Given the description of an element on the screen output the (x, y) to click on. 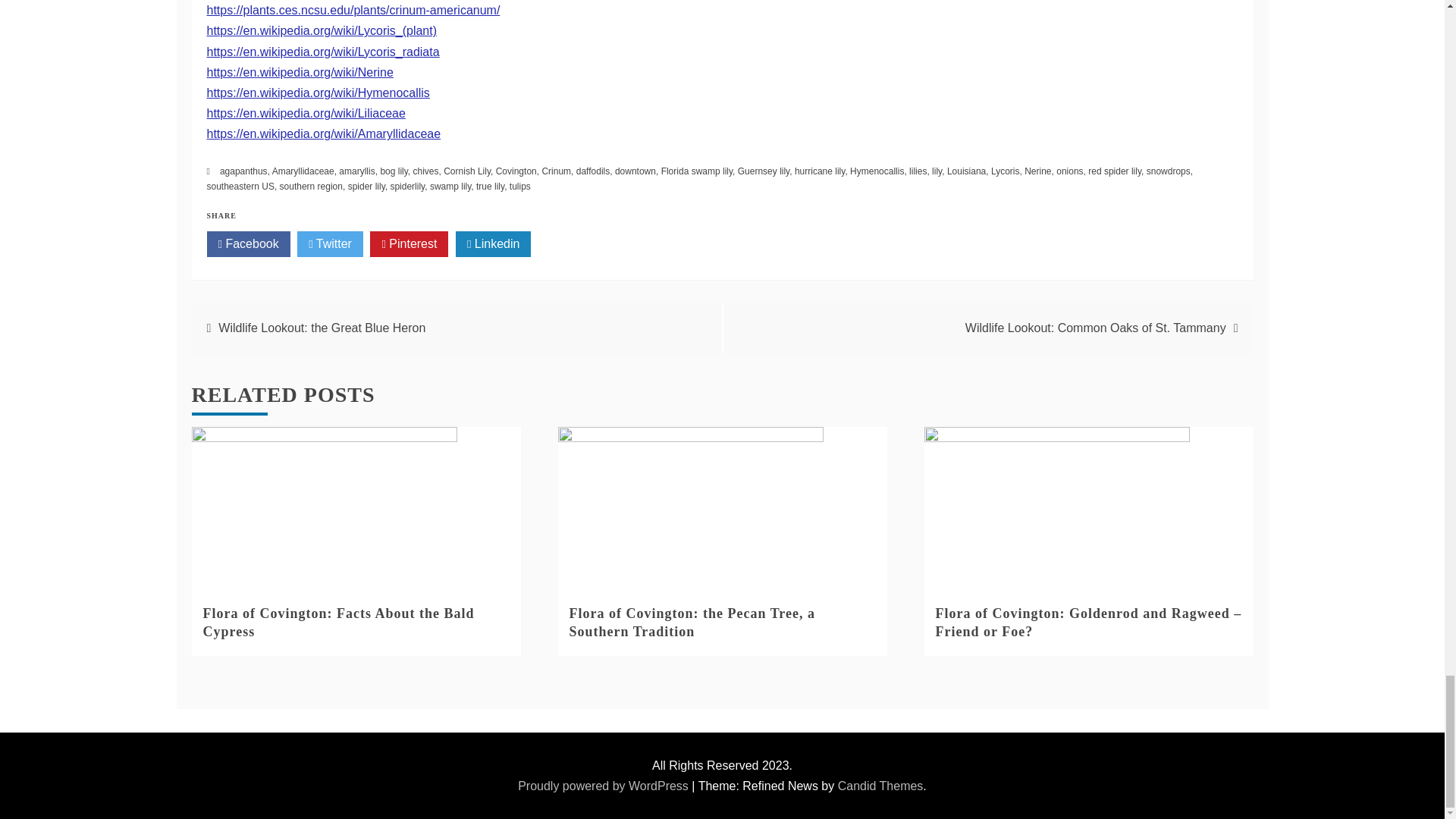
amaryllis (356, 171)
bog lily (393, 171)
agapanthus (243, 171)
Amaryllidaceae (303, 171)
